Given the description of an element on the screen output the (x, y) to click on. 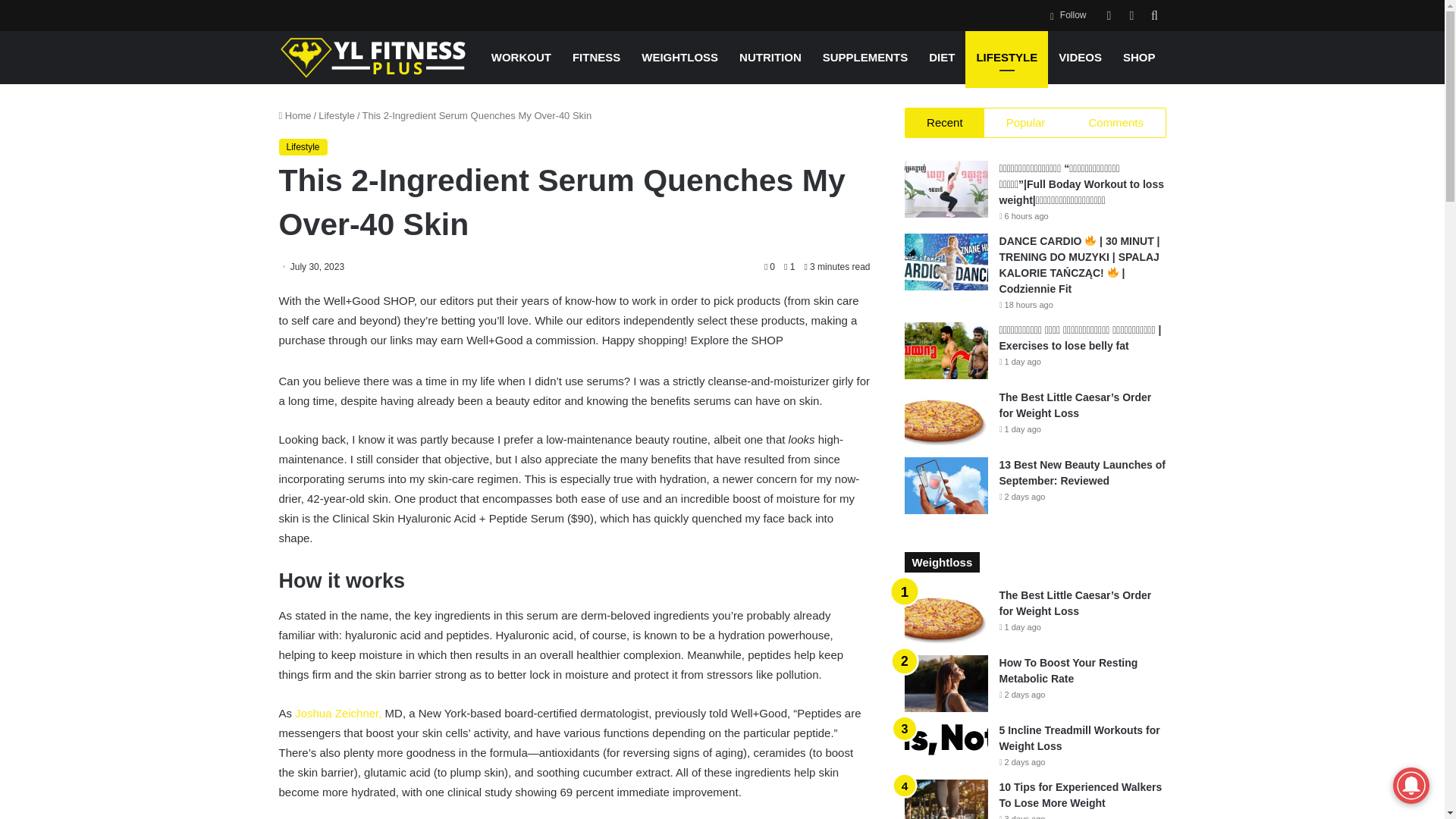
WORKOUT (521, 57)
SUPPLEMENTS (865, 57)
FITNESS (596, 57)
WEIGHTLOSS (679, 57)
Lifestyle (336, 115)
LIFESTYLE (1006, 57)
Home (295, 115)
Lifestyle (303, 146)
Follow (1068, 15)
VIDEOS (1080, 57)
